Given the description of an element on the screen output the (x, y) to click on. 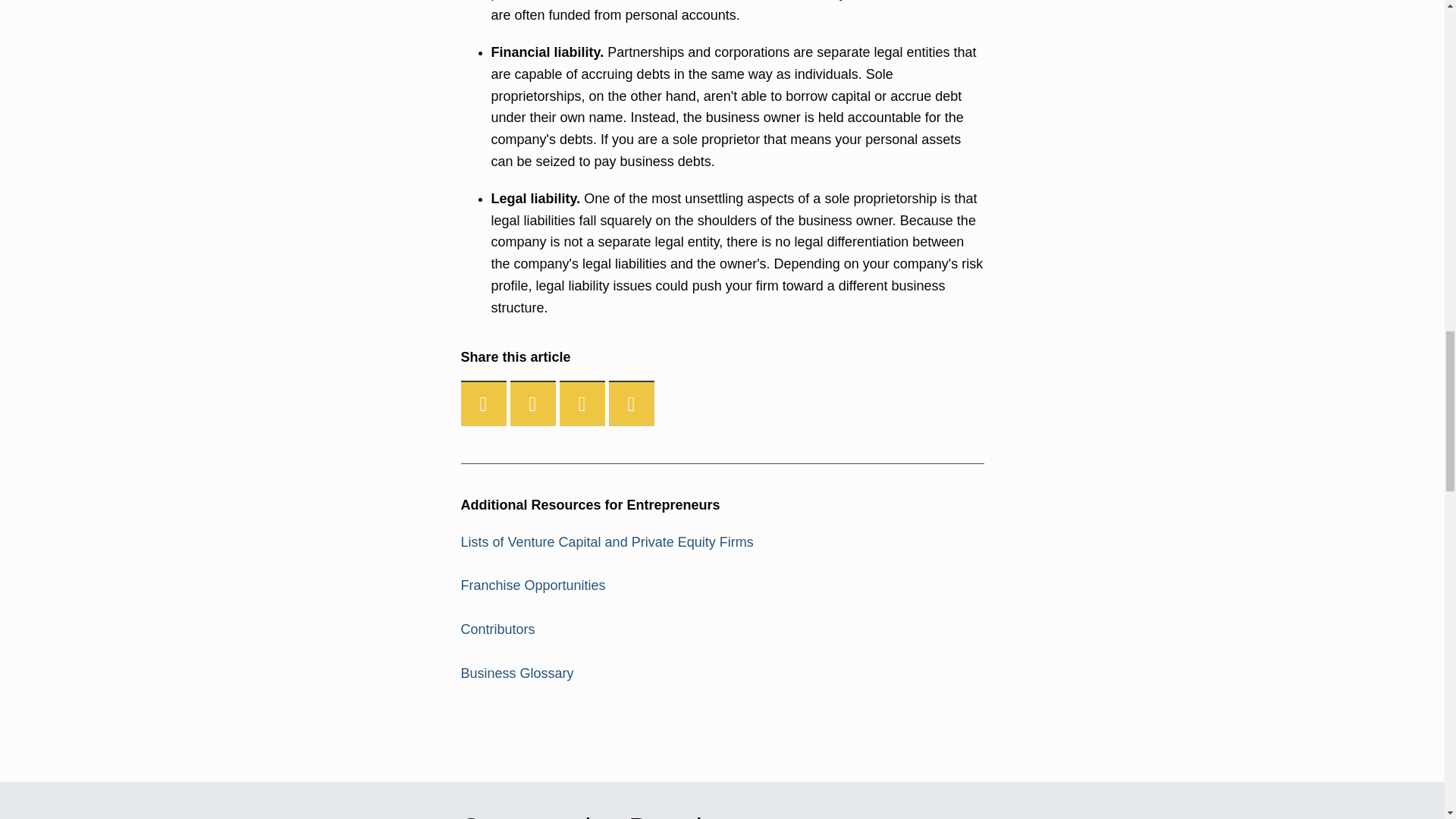
Email (630, 403)
Facebook (483, 403)
Linkedin (582, 403)
Twitter (533, 403)
